Given the description of an element on the screen output the (x, y) to click on. 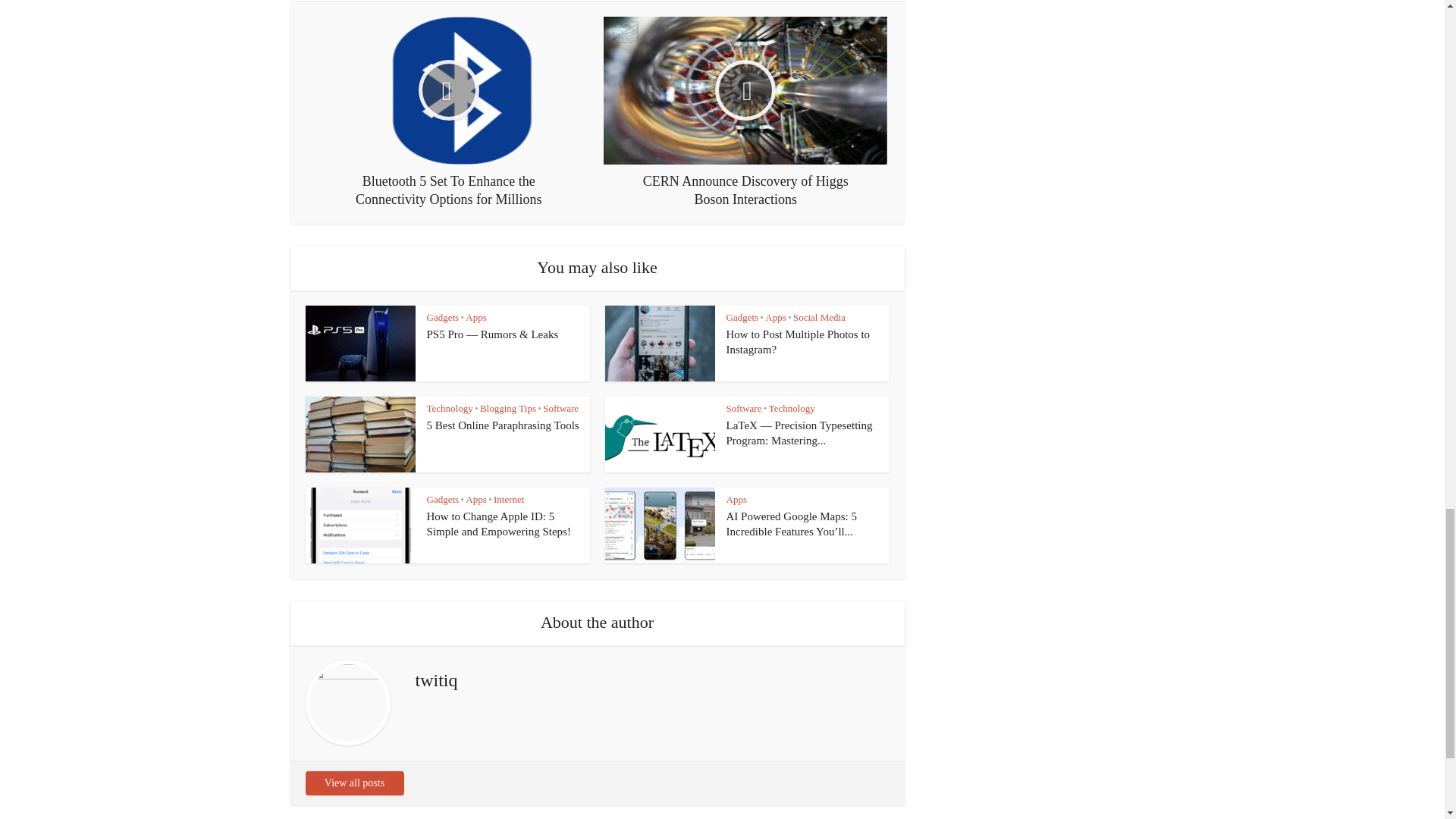
How to Post Multiple Photos to Instagram? (798, 341)
5 Best Online Paraphrasing Tools (502, 425)
How to Change Apple ID: 5 Simple and Empowering Steps! (498, 523)
